Given the description of an element on the screen output the (x, y) to click on. 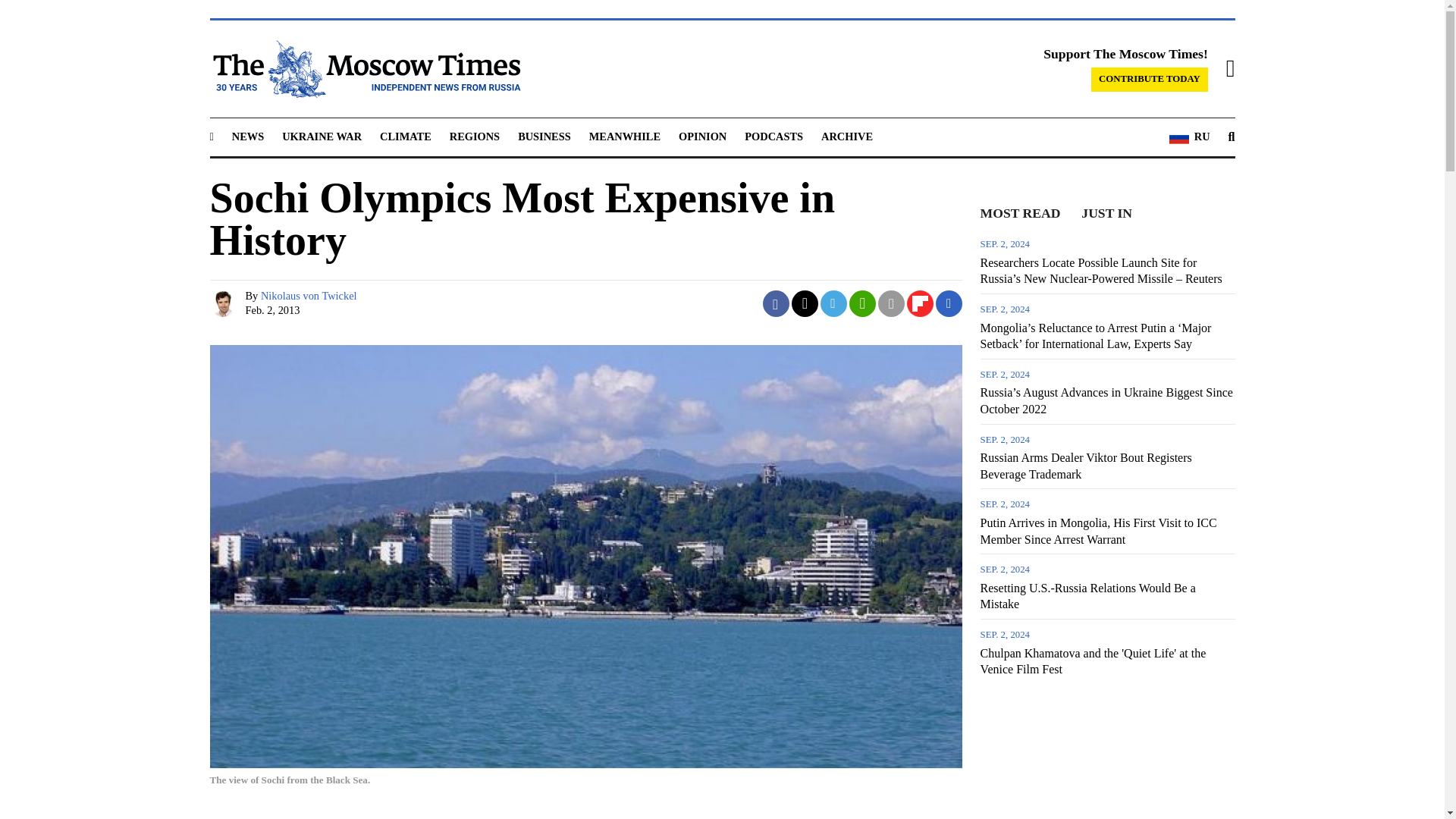
CONTRIBUTE TODAY (1149, 79)
UKRAINE WAR (321, 136)
The Moscow Times - Independent News from Russia (364, 68)
REGIONS (474, 136)
BUSINESS (544, 136)
ARCHIVE (846, 136)
Nikolaus von Twickel (224, 303)
Share on Facebook (775, 303)
MEANWHILE (625, 136)
Share on Flipboard (920, 303)
